Given the description of an element on the screen output the (x, y) to click on. 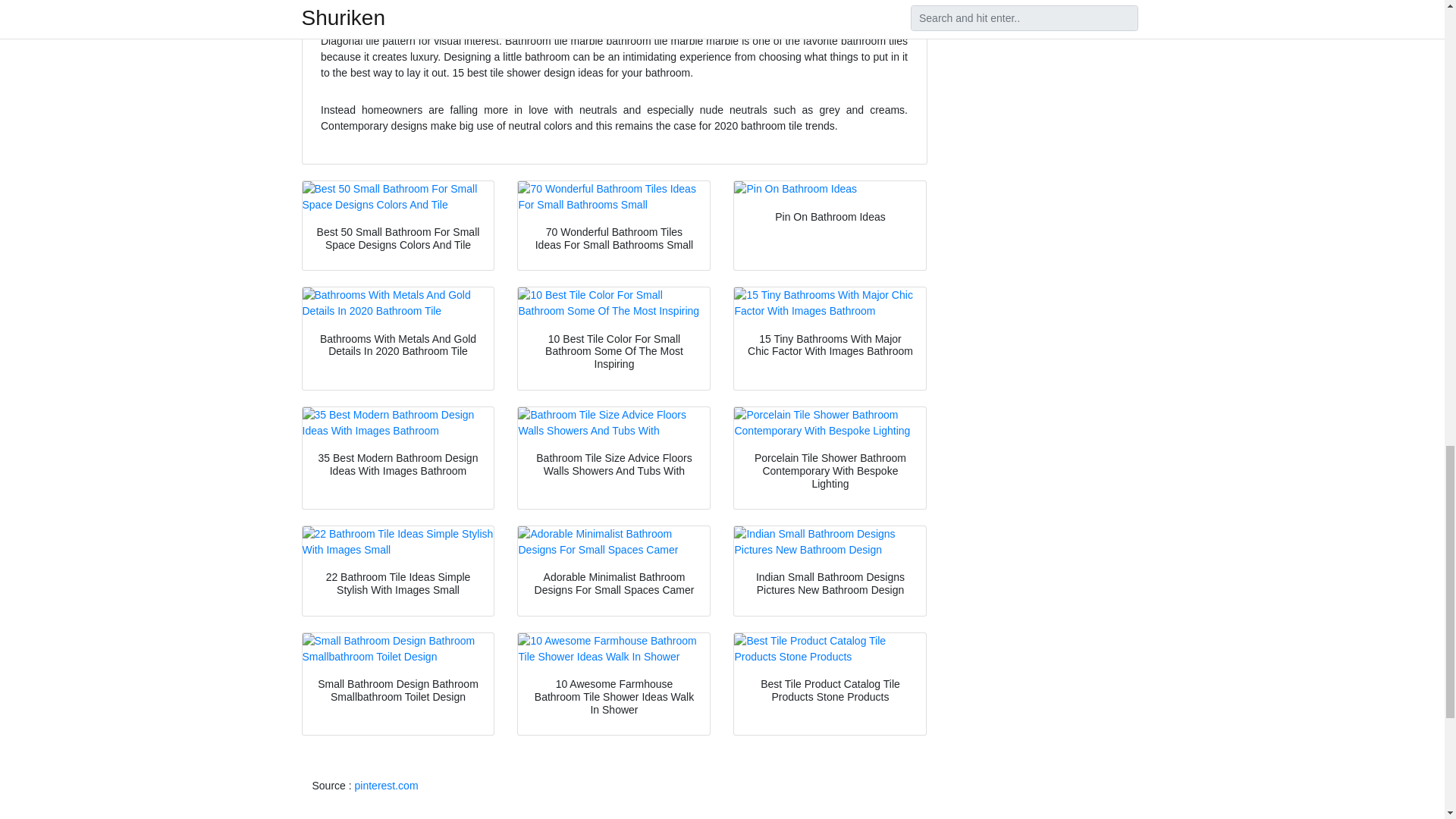
pinterest.com (387, 785)
